Given the description of an element on the screen output the (x, y) to click on. 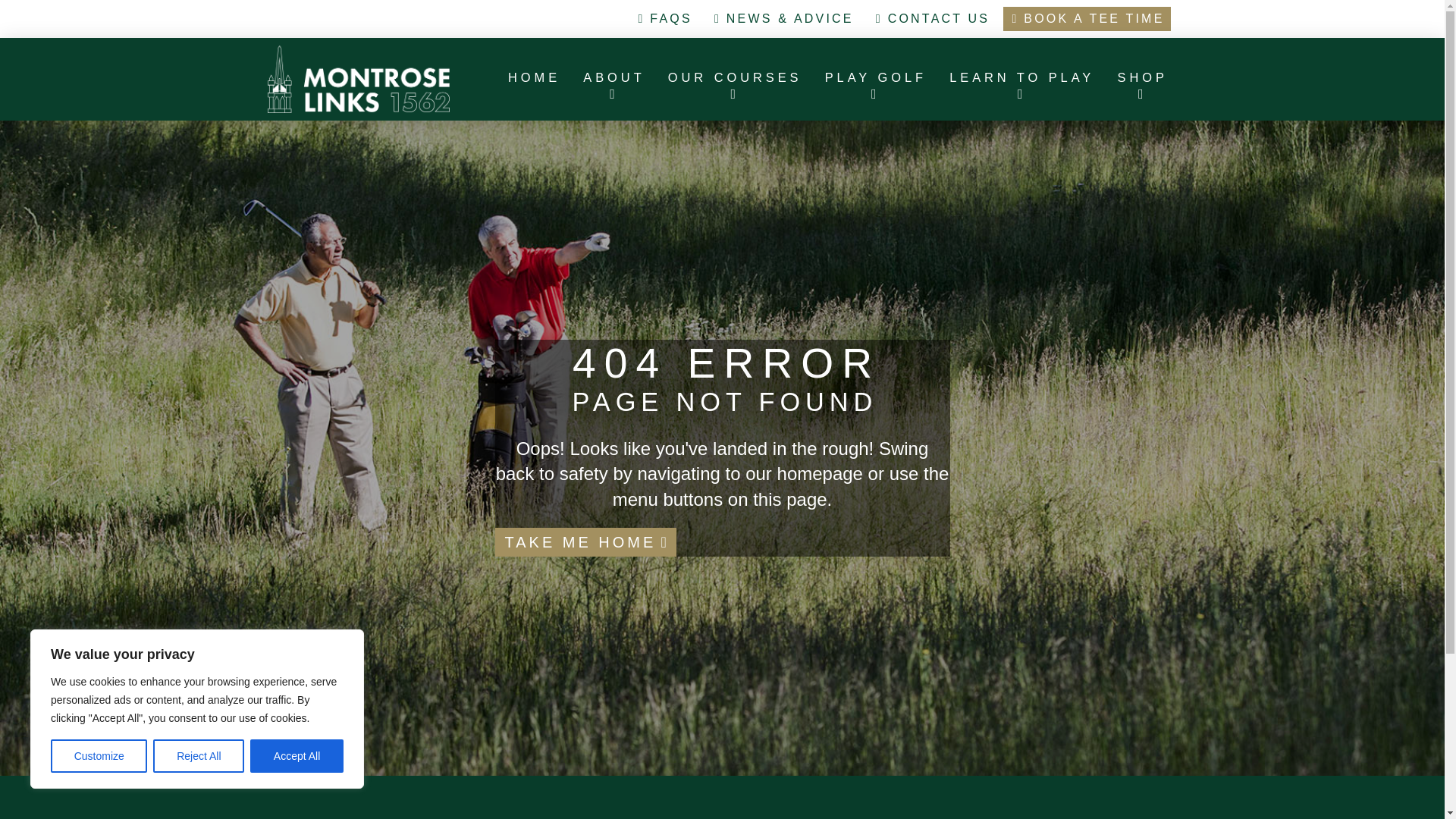
Customize (98, 756)
Reject All (198, 756)
FAQS (663, 18)
SHOP (1139, 85)
PLAY GOLF (873, 85)
CONTACT US (930, 18)
HOME (532, 85)
LEARN TO PLAY (1019, 85)
BOOK A TEE TIME (1086, 18)
Accept All (296, 756)
ABOUT (611, 85)
OUR COURSES (733, 85)
